Given the description of an element on the screen output the (x, y) to click on. 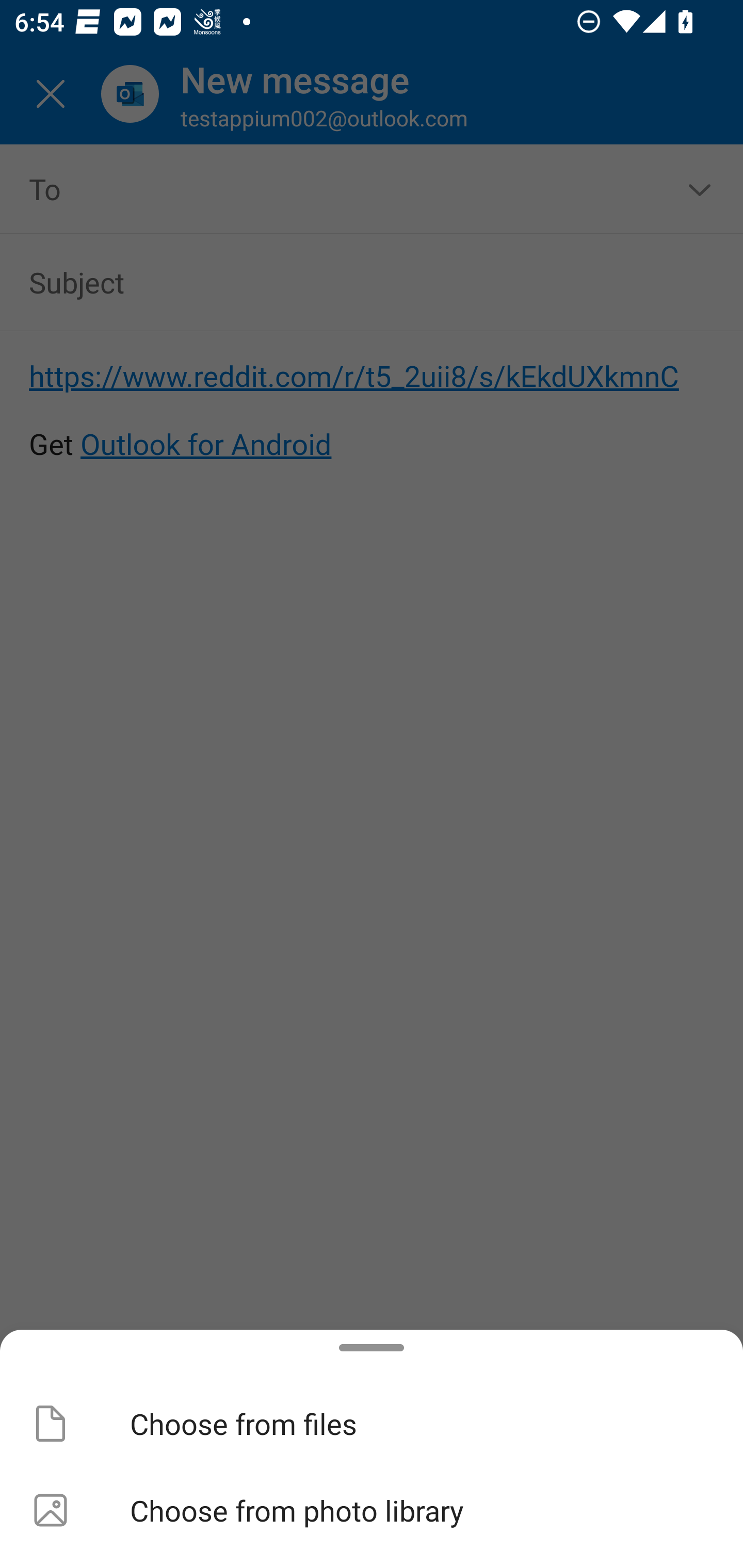
Choose from files (371, 1423)
Choose from photo library (371, 1510)
